Given the description of an element on the screen output the (x, y) to click on. 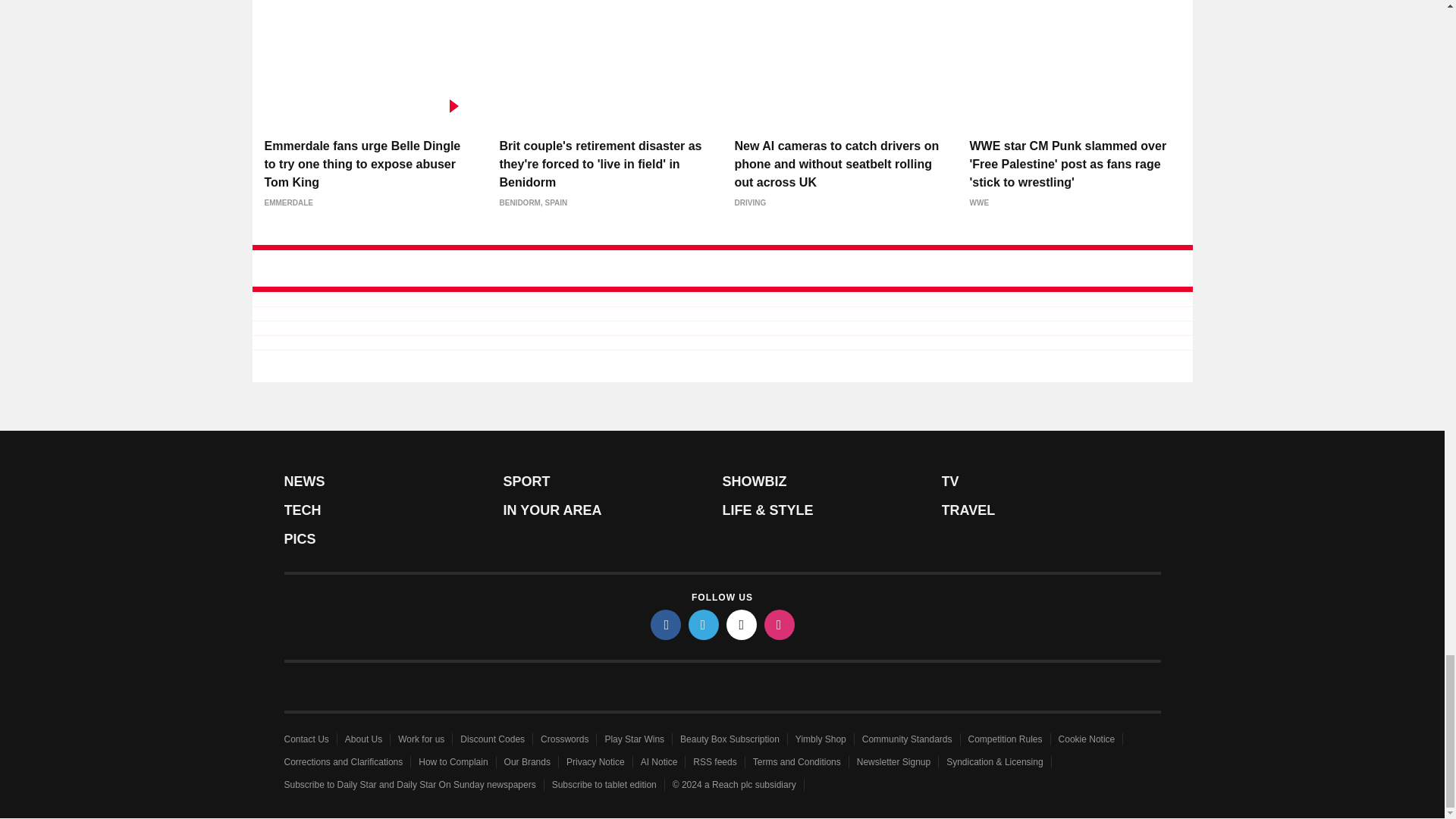
facebook (665, 624)
tiktok (741, 624)
twitter (703, 624)
instagram (779, 624)
